Given the description of an element on the screen output the (x, y) to click on. 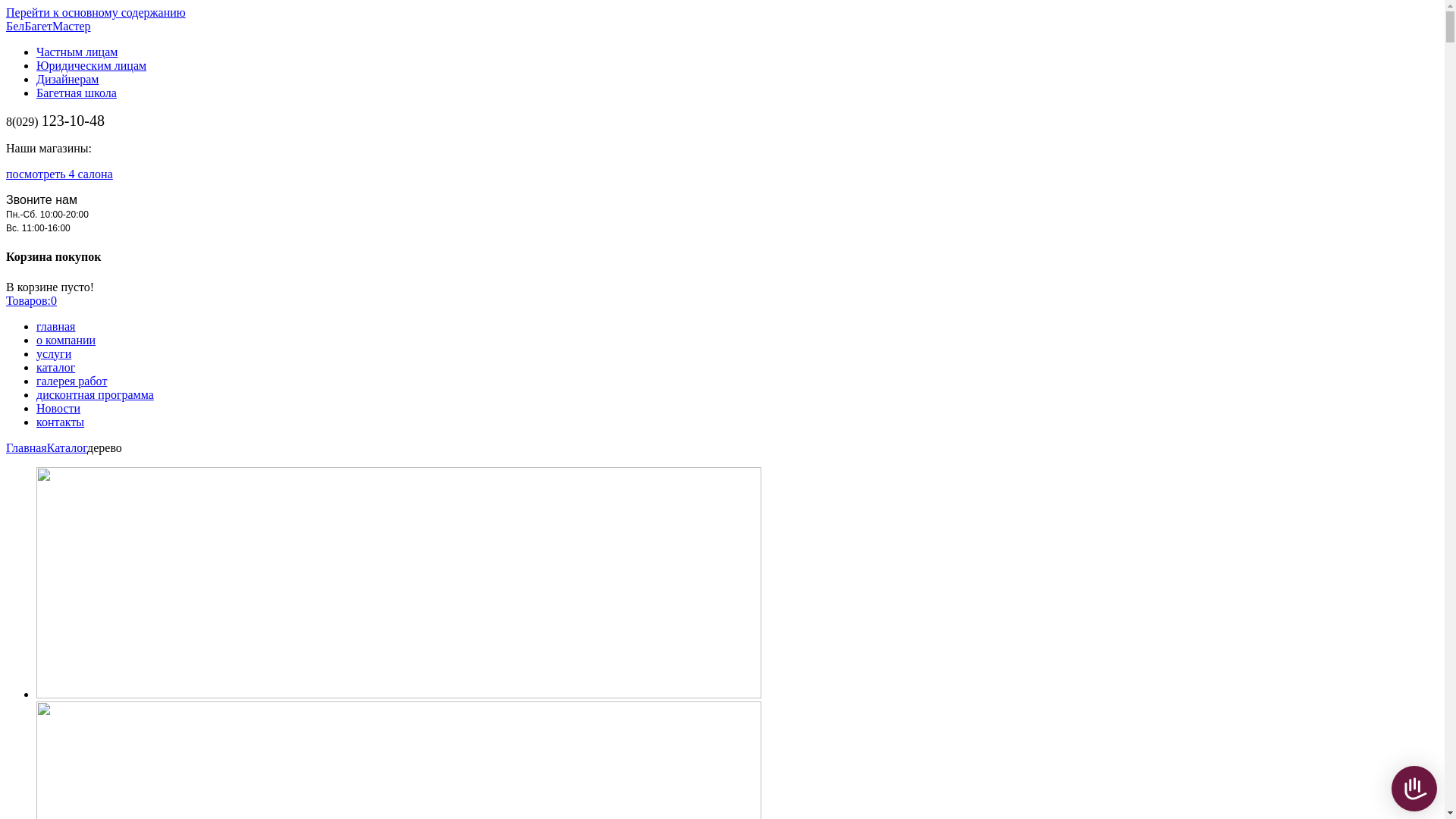
8(029) 123-10-48 Element type: text (55, 121)
